Given the description of an element on the screen output the (x, y) to click on. 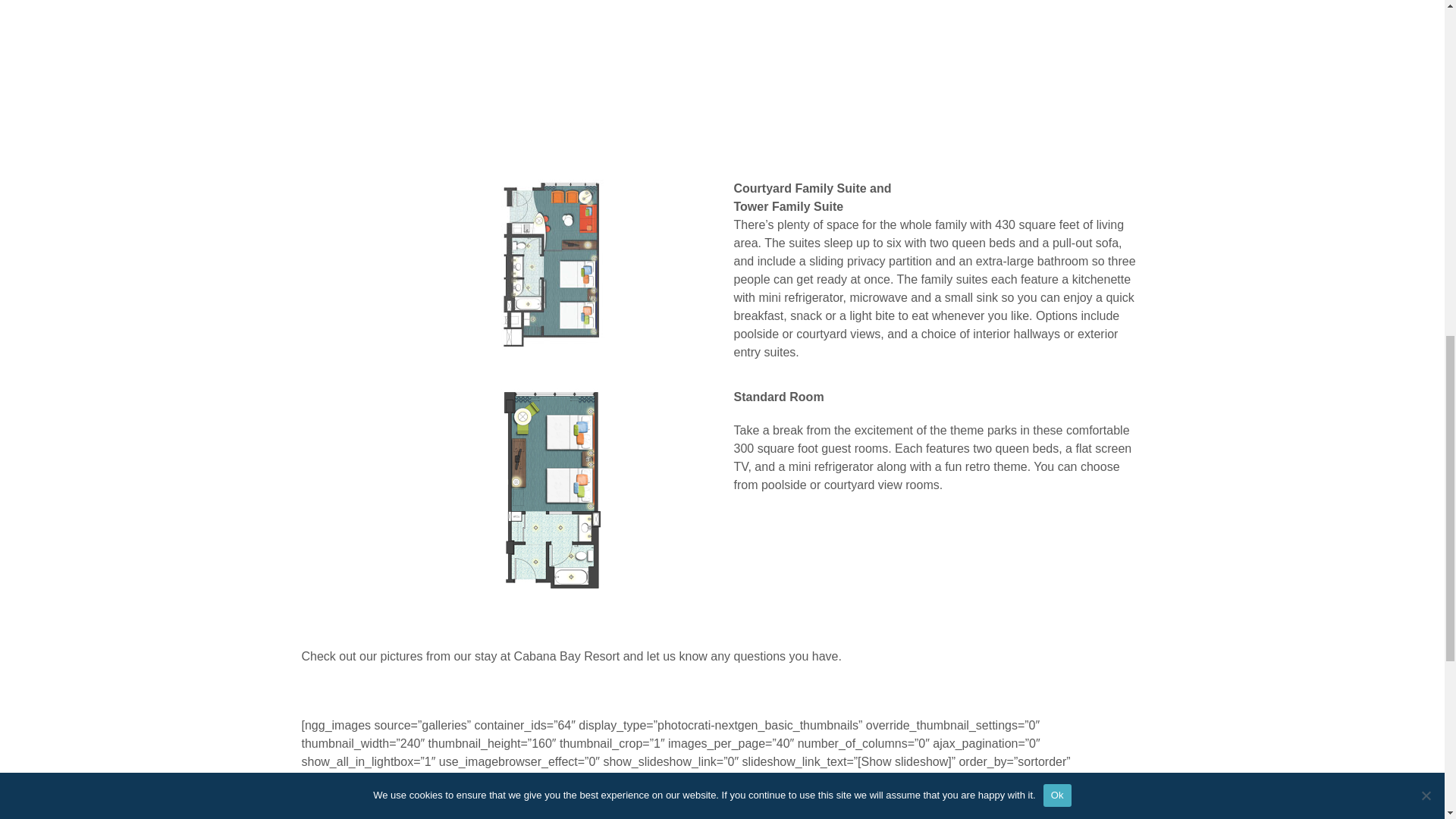
Cabana-Bay-suite-floor-plan (505, 264)
Universal's Cabana Bay Beach Resort: Overview (596, 64)
Cabana-Bay-standard-room-floor-plan (505, 492)
